Given the description of an element on the screen output the (x, y) to click on. 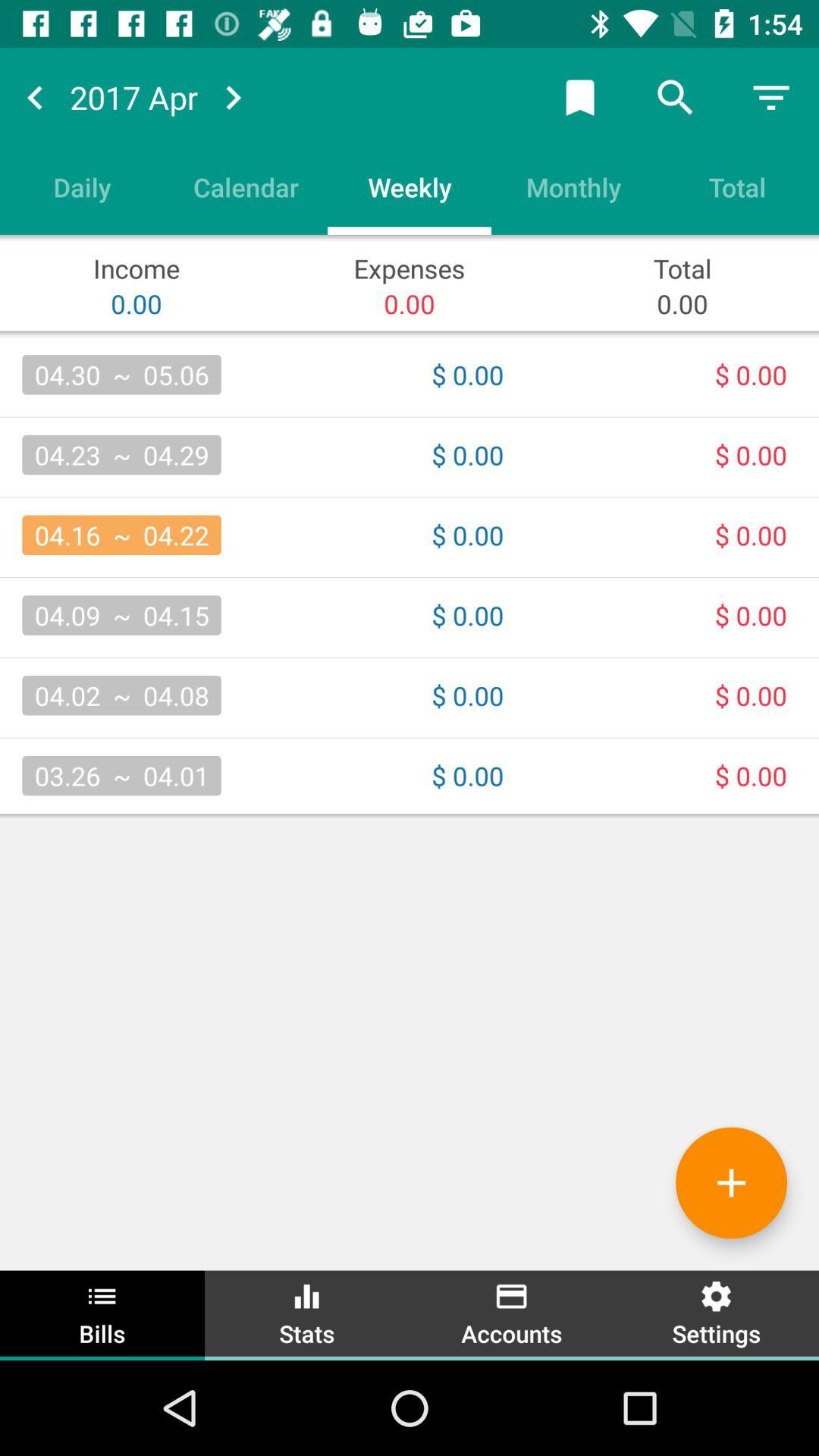
move back (34, 97)
